Given the description of an element on the screen output the (x, y) to click on. 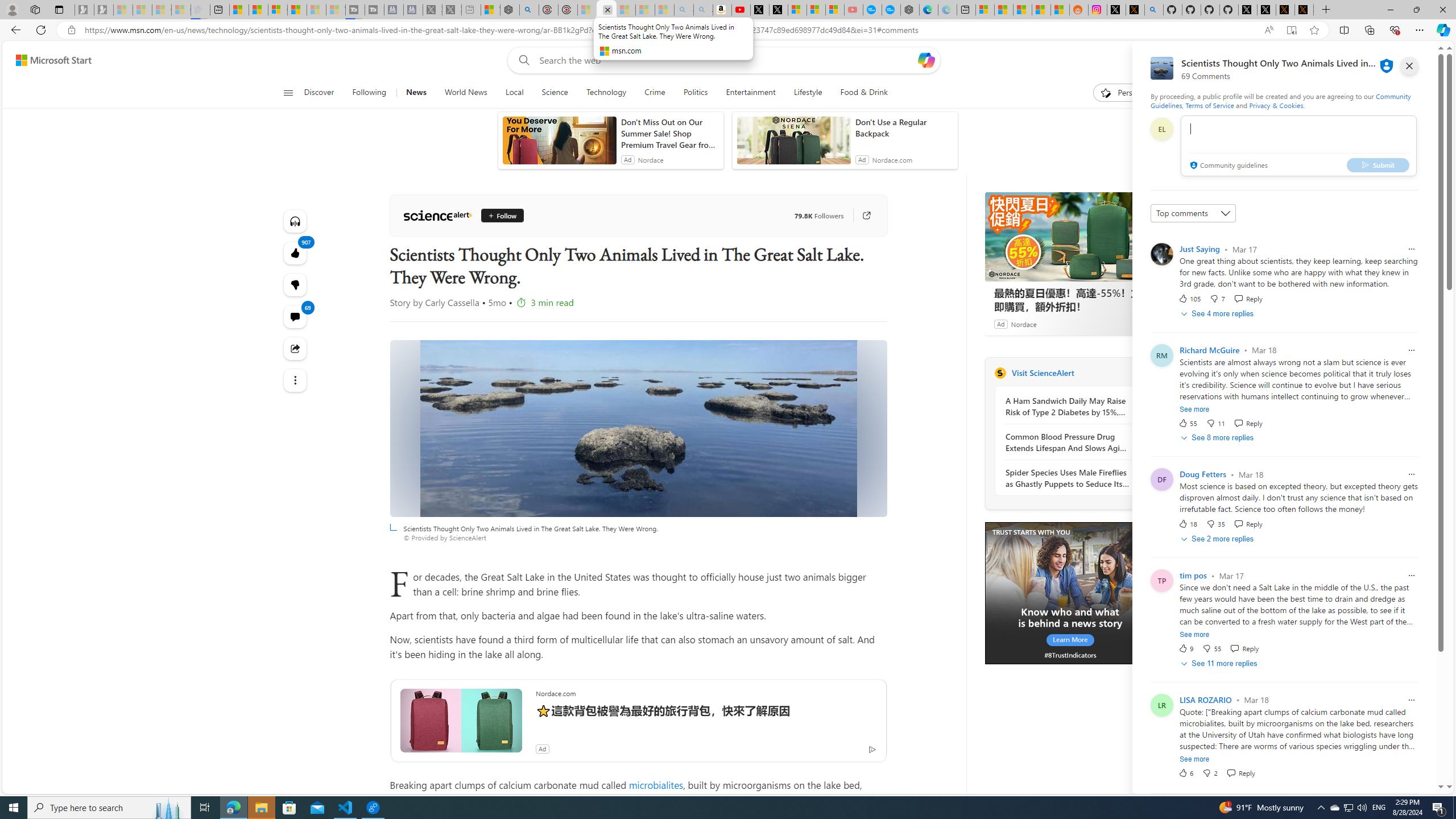
Go to publisher's site (866, 215)
help.x.com | 524: A timeout occurred (1134, 9)
ScienceAlert (1000, 372)
The most popular Google 'how to' searches (890, 9)
105 Like (1189, 298)
